Given the description of an element on the screen output the (x, y) to click on. 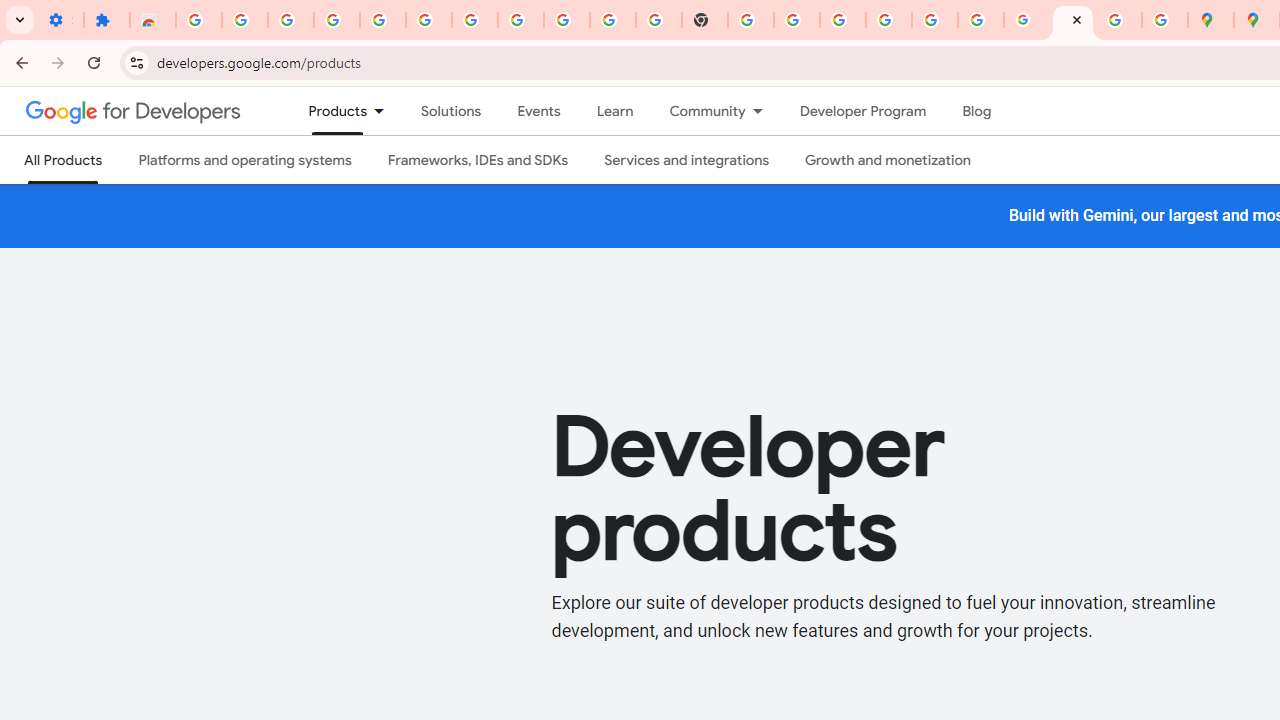
New Tab (705, 20)
Services and integrations (687, 160)
